Given the description of an element on the screen output the (x, y) to click on. 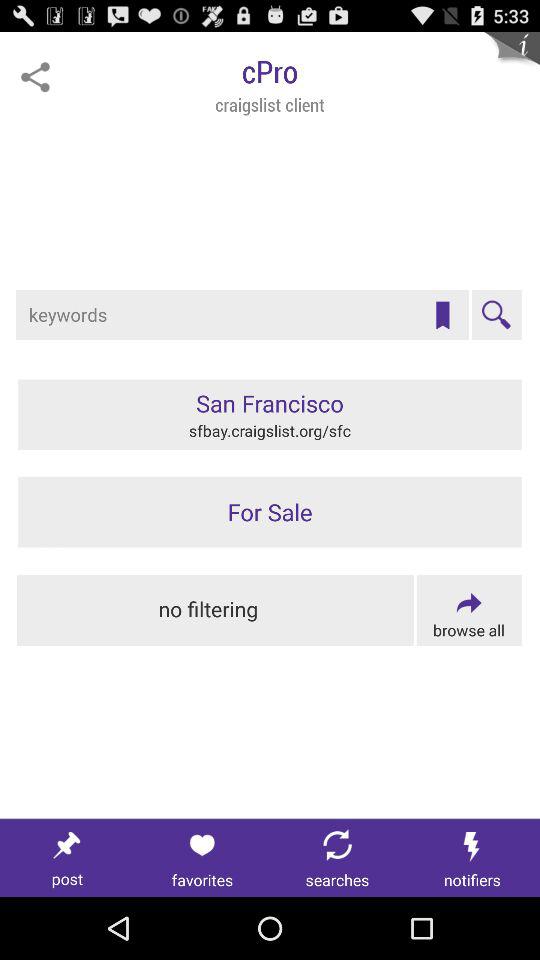
because back devicer (202, 858)
